Given the description of an element on the screen output the (x, y) to click on. 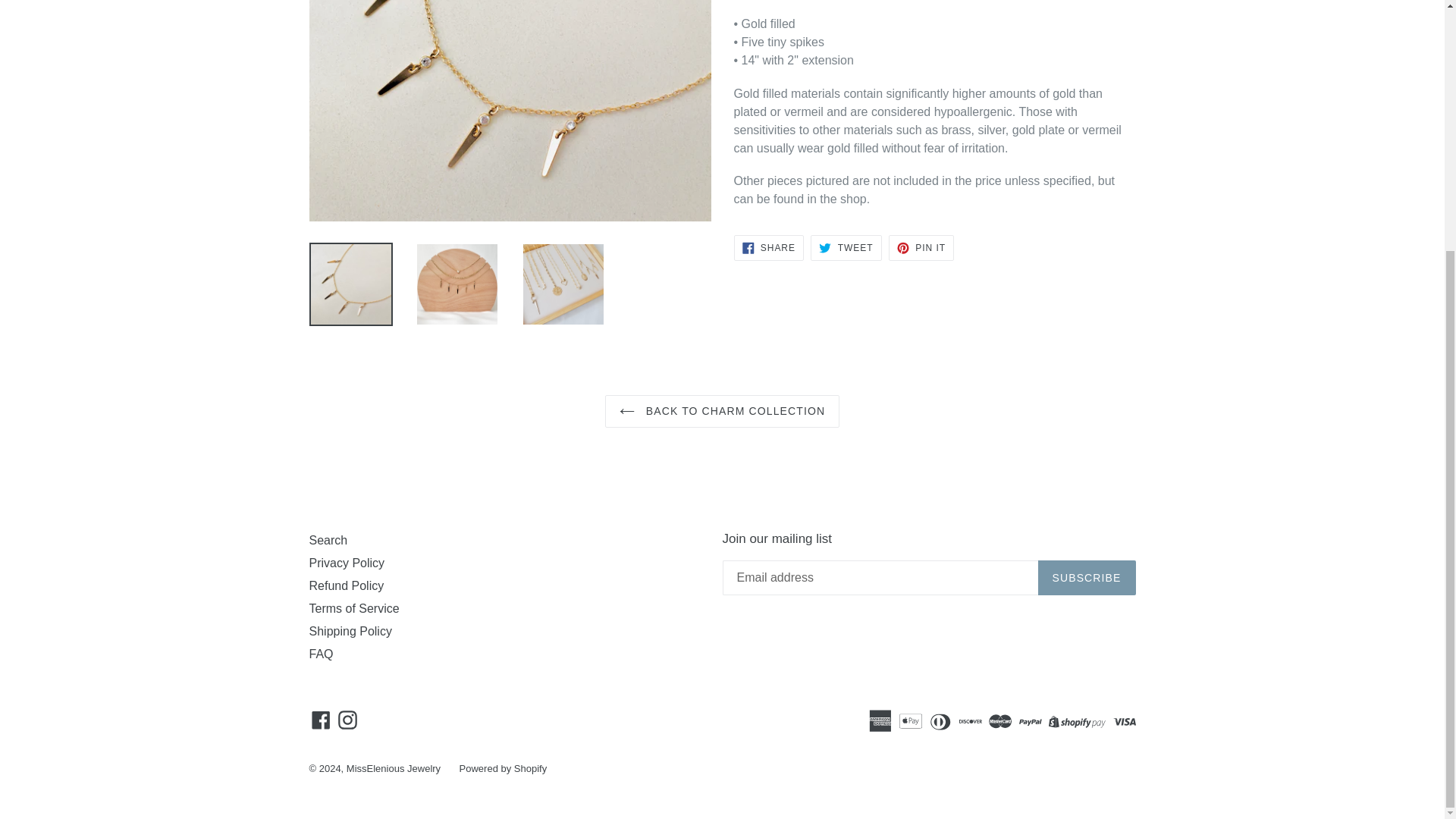
MissElenious Jewelry on Facebook (320, 719)
Tweet on Twitter (845, 248)
Pin on Pinterest (920, 248)
Share on Facebook (768, 248)
MissElenious Jewelry on Instagram (347, 719)
